Given the description of an element on the screen output the (x, y) to click on. 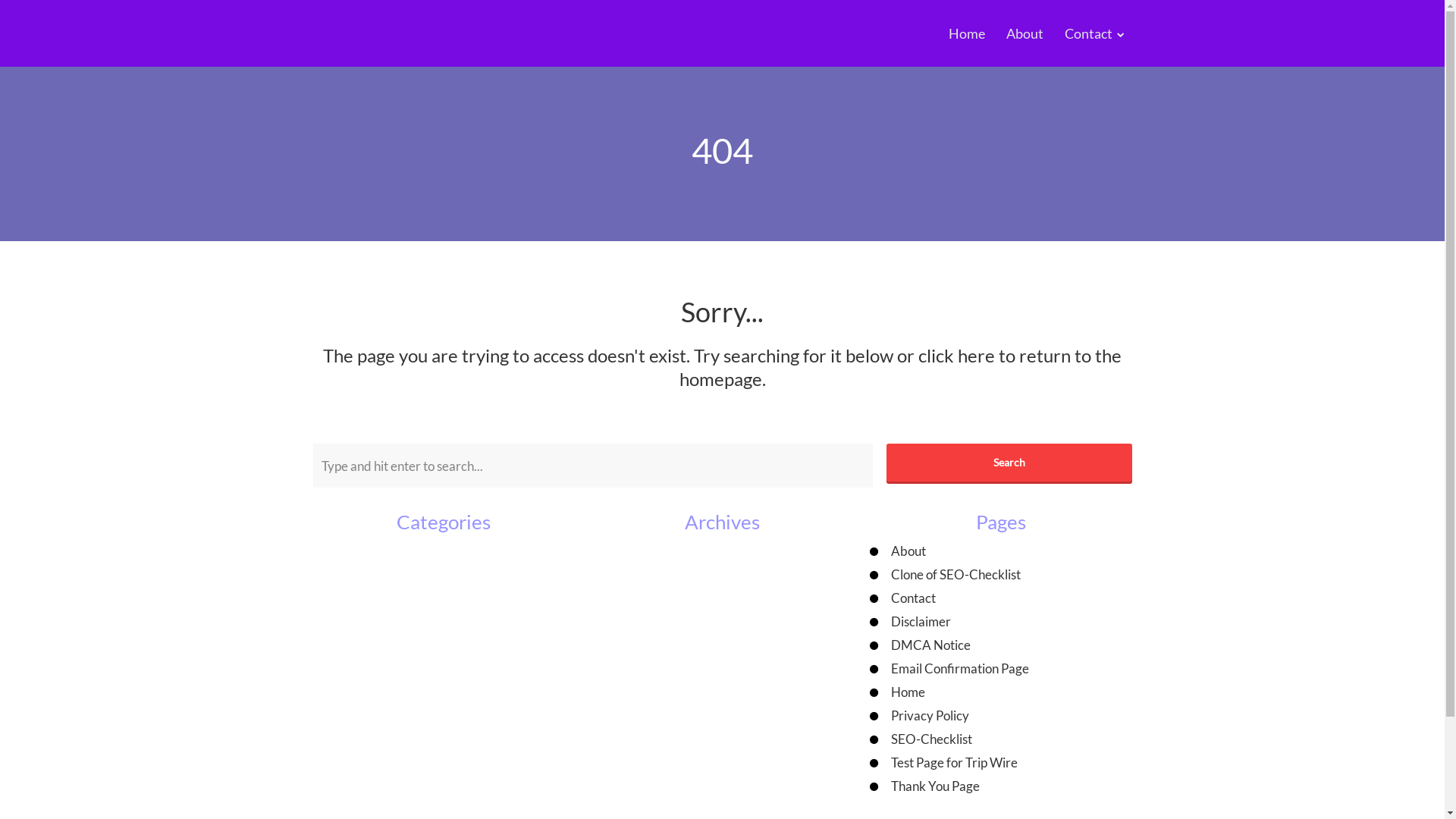
Contact Element type: text (1088, 33)
About Element type: text (1024, 33)
Home Element type: text (966, 33)
DMCA Notice Element type: text (930, 644)
Email Confirmation Page Element type: text (960, 668)
Search Element type: text (1009, 462)
Contact Element type: text (913, 597)
Privacy Policy Element type: text (930, 715)
Clone of SEO-Checklist Element type: text (955, 574)
SEO-Checklist Element type: text (931, 738)
Disclaimer Element type: text (920, 621)
Home Element type: text (908, 691)
Thank You Page Element type: text (935, 785)
click here Element type: text (956, 355)
About Element type: text (908, 550)
Test Page for Trip Wire Element type: text (954, 762)
